Given the description of an element on the screen output the (x, y) to click on. 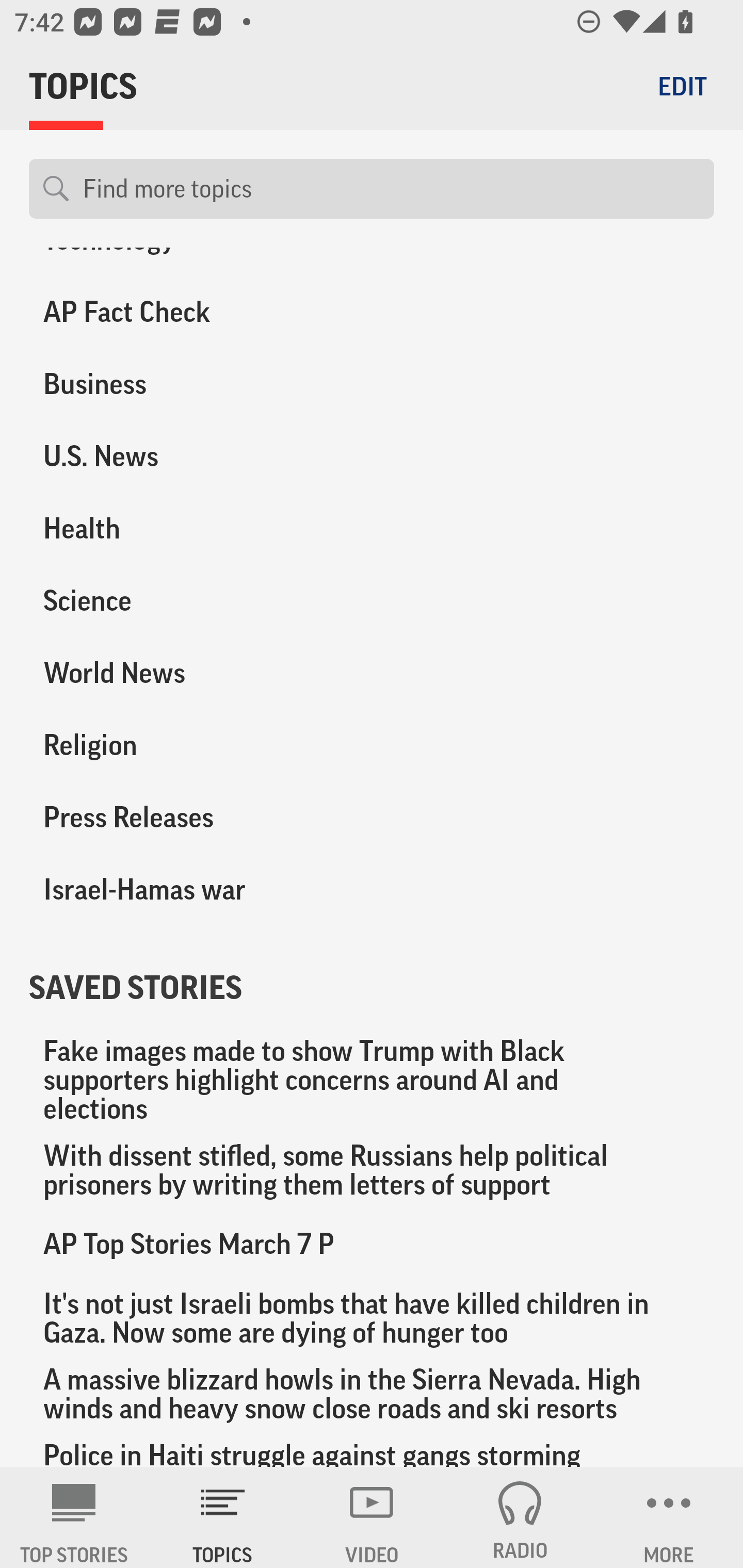
EDIT (682, 86)
Find more topics (391, 188)
AP Fact Check (185, 311)
Business (185, 384)
U.S. News (185, 456)
Health (185, 528)
Science (185, 600)
World News (185, 672)
Religion (185, 744)
Press Releases (185, 816)
Israel-Hamas war (185, 888)
AP Top Stories March 7 P (371, 1243)
AP News TOP STORIES (74, 1517)
TOPICS (222, 1517)
VIDEO (371, 1517)
RADIO (519, 1517)
MORE (668, 1517)
